Given the description of an element on the screen output the (x, y) to click on. 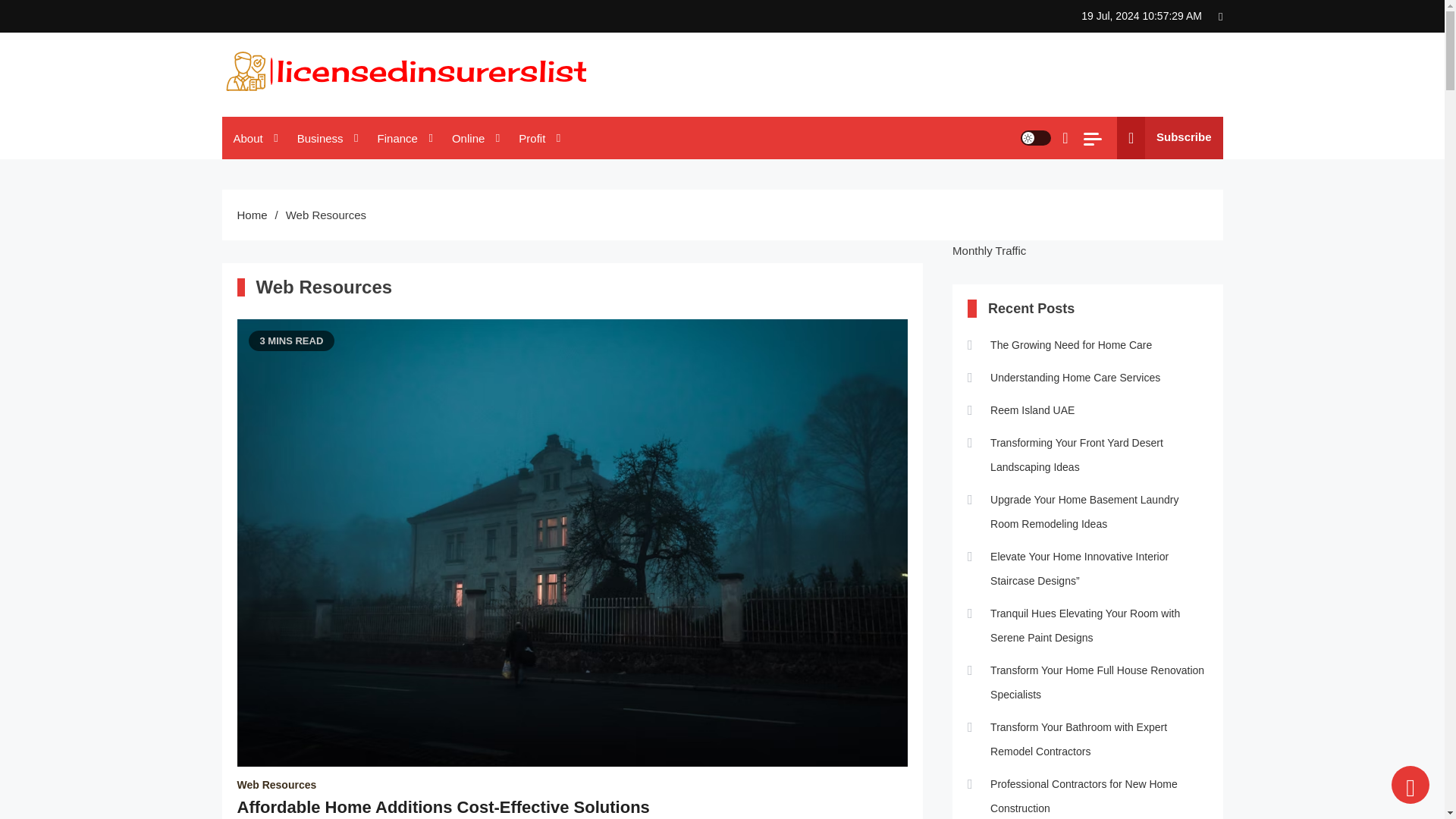
Finance (403, 137)
Licensedinsurerslist (331, 110)
Business (325, 137)
About (253, 137)
Profit (536, 137)
site mode button (1035, 137)
Online (473, 137)
